Given the description of an element on the screen output the (x, y) to click on. 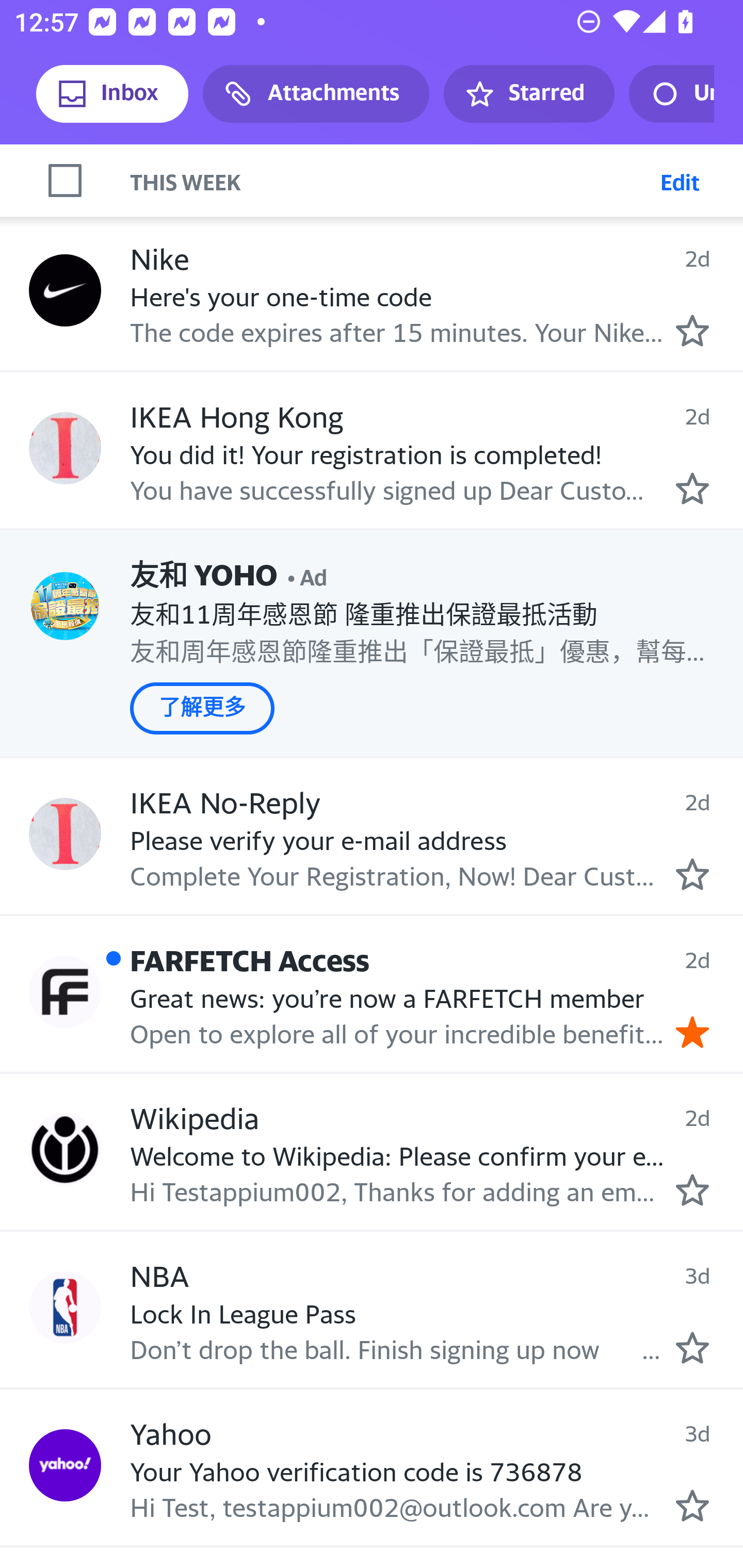
Attachments (315, 93)
Starred (528, 93)
Profile
Nike (64, 290)
Mark as starred. (692, 330)
Profile
IKEA Hong Kong (64, 448)
Mark as starred. (692, 488)
Profile
IKEA No-Reply (64, 834)
Mark as starred. (692, 874)
Profile
FARFETCH Access (64, 992)
Remove star. (692, 1032)
Profile
Wikipedia (64, 1149)
Mark as starred. (692, 1189)
Profile
NBA (64, 1307)
Mark as starred. (692, 1347)
Profile
Yahoo (64, 1466)
Mark as starred. (692, 1506)
